Given the description of an element on the screen output the (x, y) to click on. 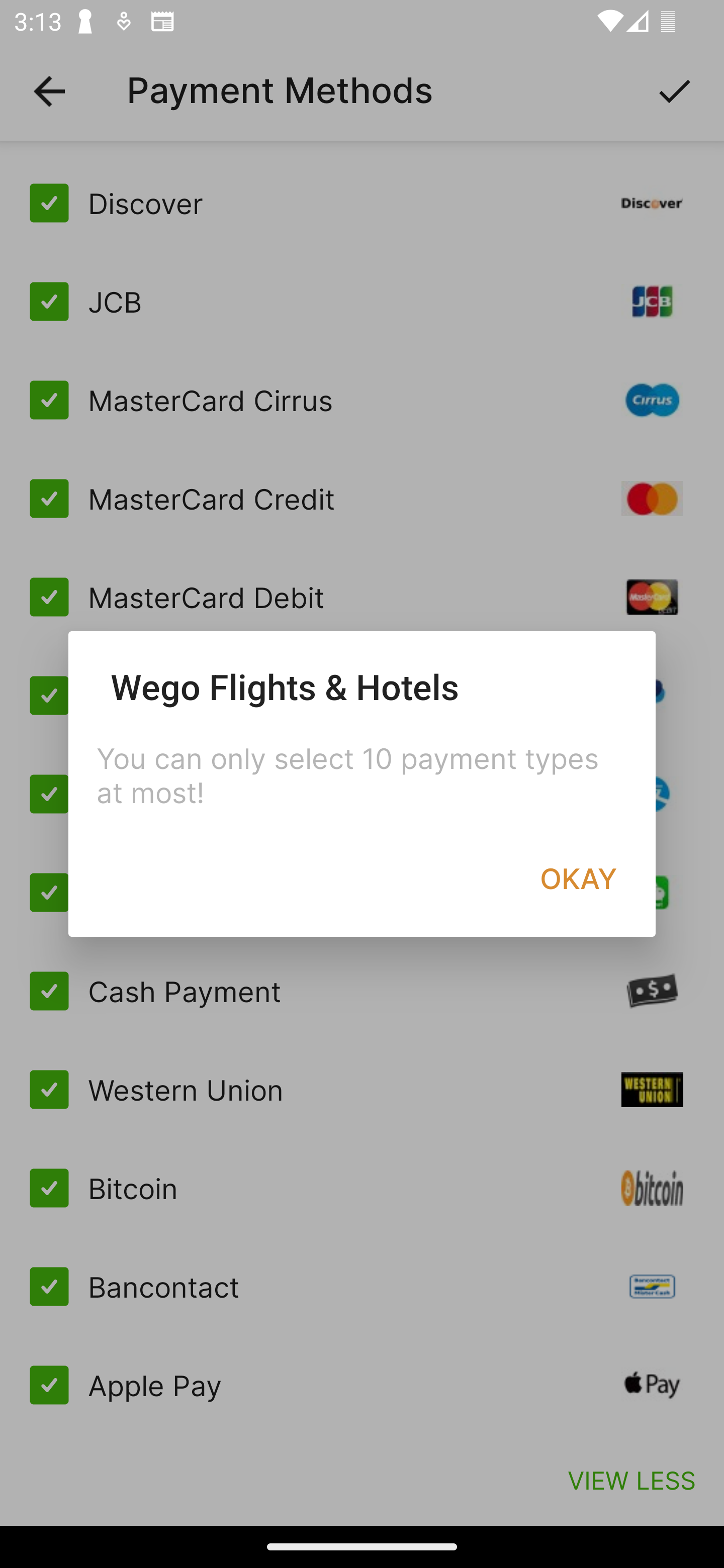
OKAY (578, 877)
